Given the description of an element on the screen output the (x, y) to click on. 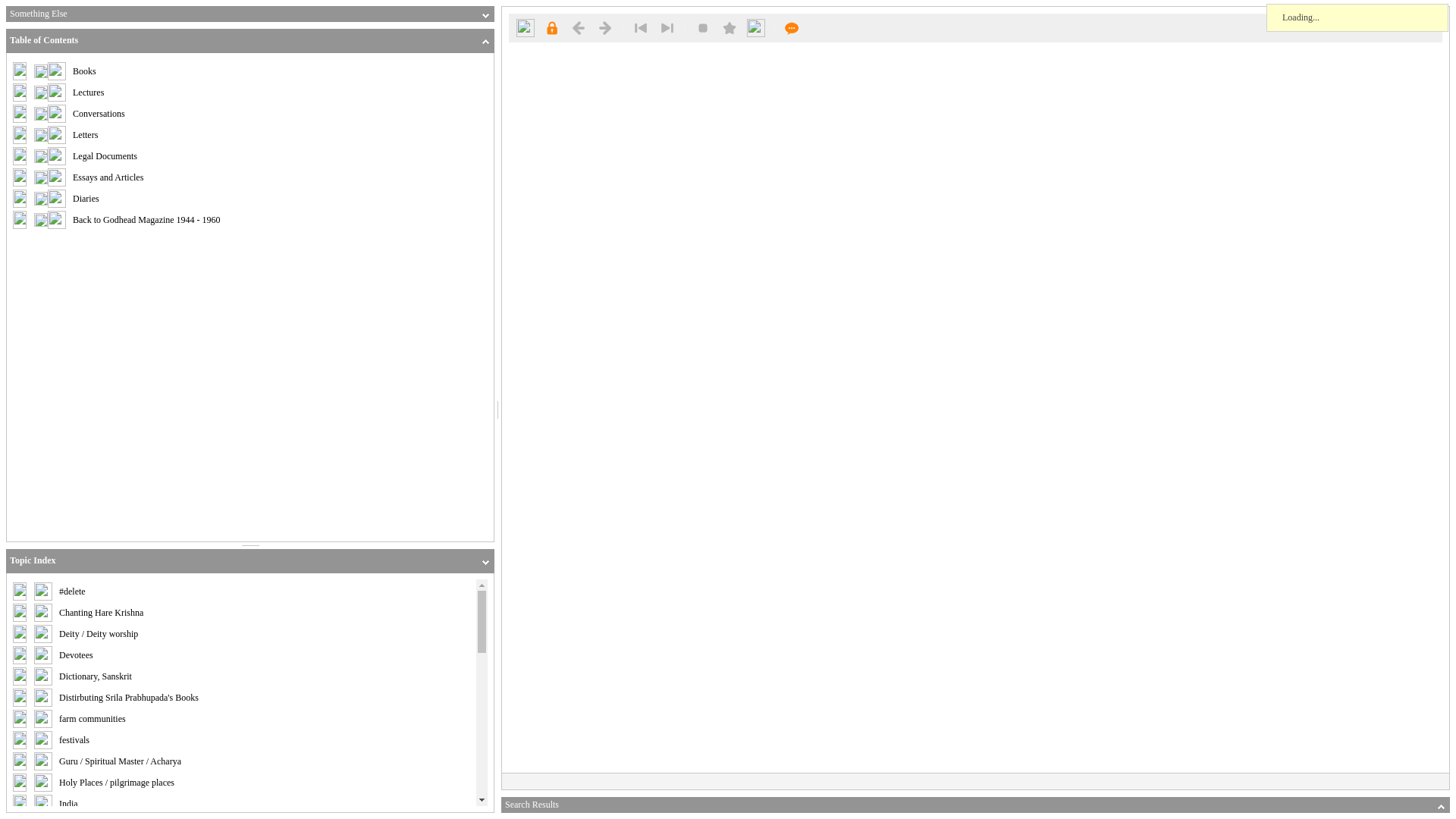
Previous Search Hit (640, 27)
Help (791, 27)
Highlight Text (703, 27)
Next Search Hit (666, 27)
Settings (755, 27)
Search (525, 27)
Next Document (604, 27)
Bookmark (729, 27)
Previous Document (578, 27)
Login (551, 27)
